Given the description of an element on the screen output the (x, y) to click on. 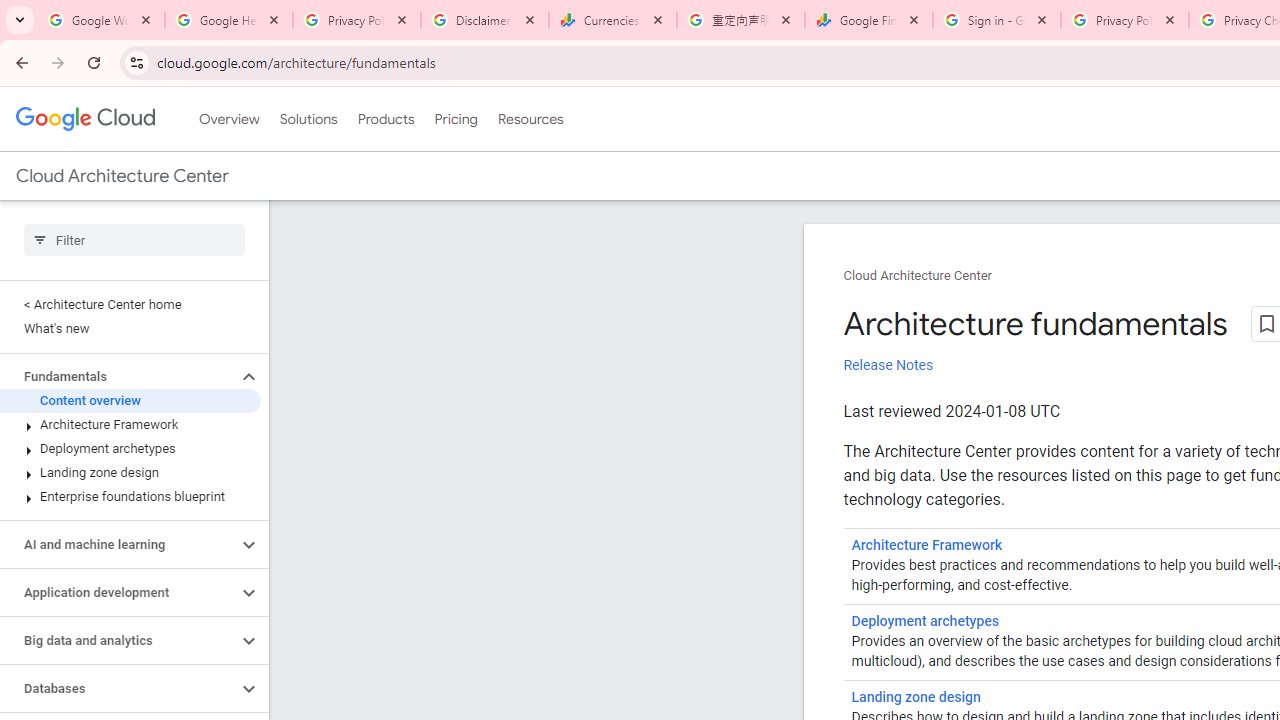
AI and machine learning (118, 544)
Type to filter (134, 239)
Content overview (130, 400)
Architecture Framework (927, 545)
Google Workspace Admin Community (101, 20)
Application development (118, 592)
Cloud Architecture Center (917, 276)
Solutions (308, 119)
Currencies - Google Finance (613, 20)
< Architecture Center home (130, 304)
Fundamentals (118, 376)
